Given the description of an element on the screen output the (x, y) to click on. 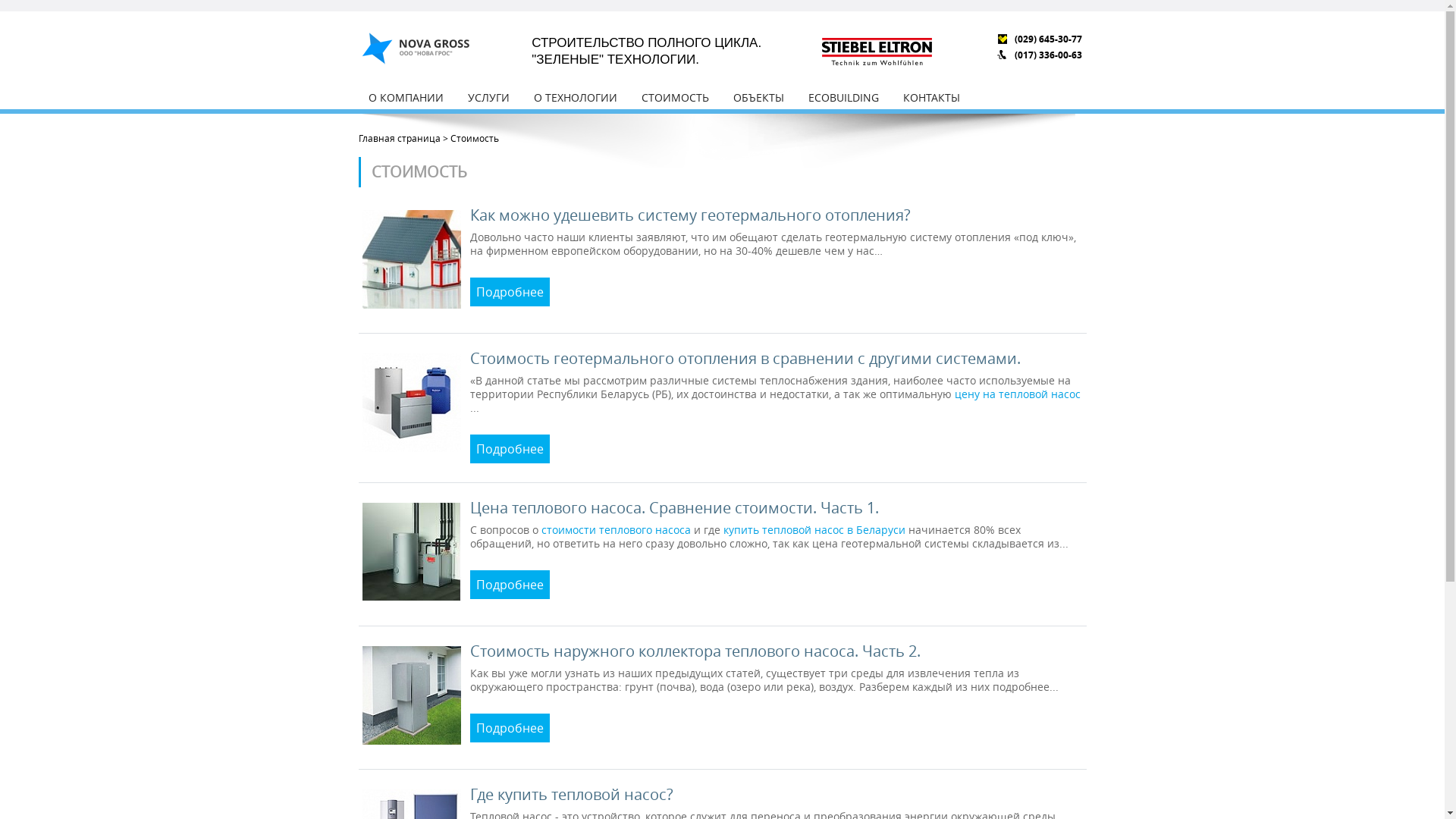
ECOBUILDING Element type: text (842, 97)
(029) 645-30-77 Element type: text (1048, 38)
(017) 336-00-63 Element type: text (1048, 54)
